Given the description of an element on the screen output the (x, y) to click on. 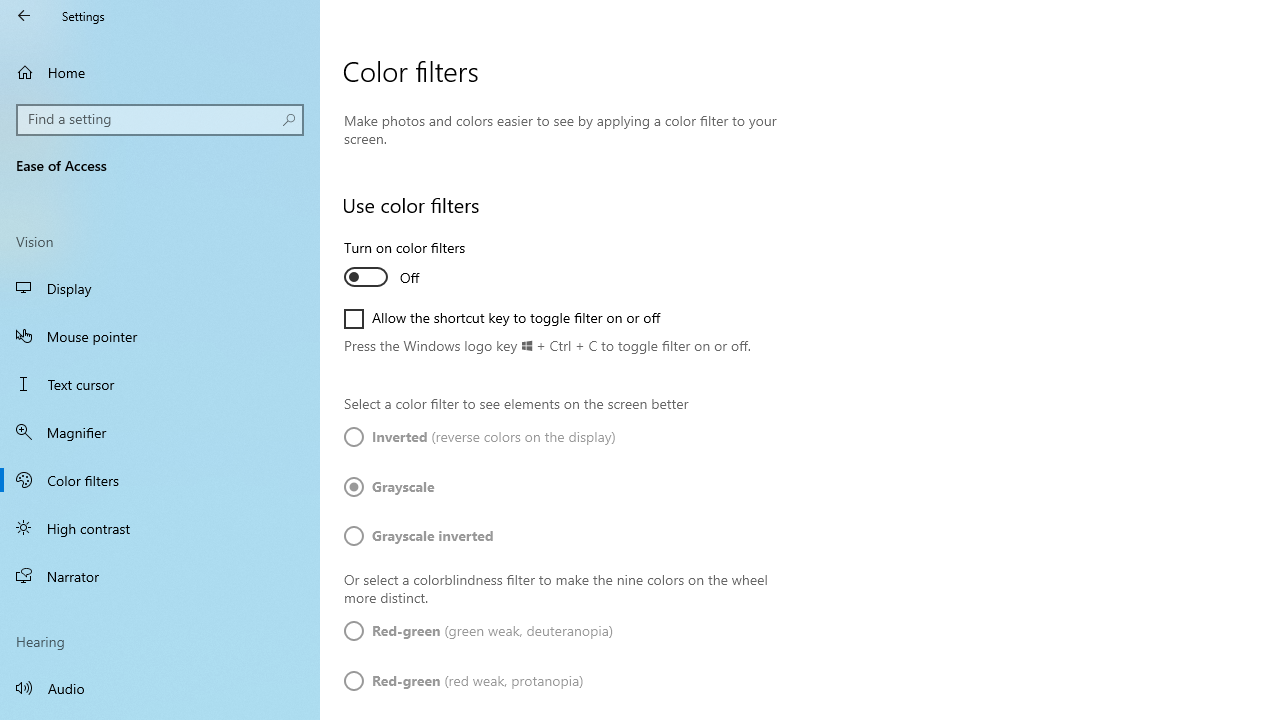
Back (24, 15)
Grayscale (403, 486)
Turn on color filters (417, 265)
